Given the description of an element on the screen output the (x, y) to click on. 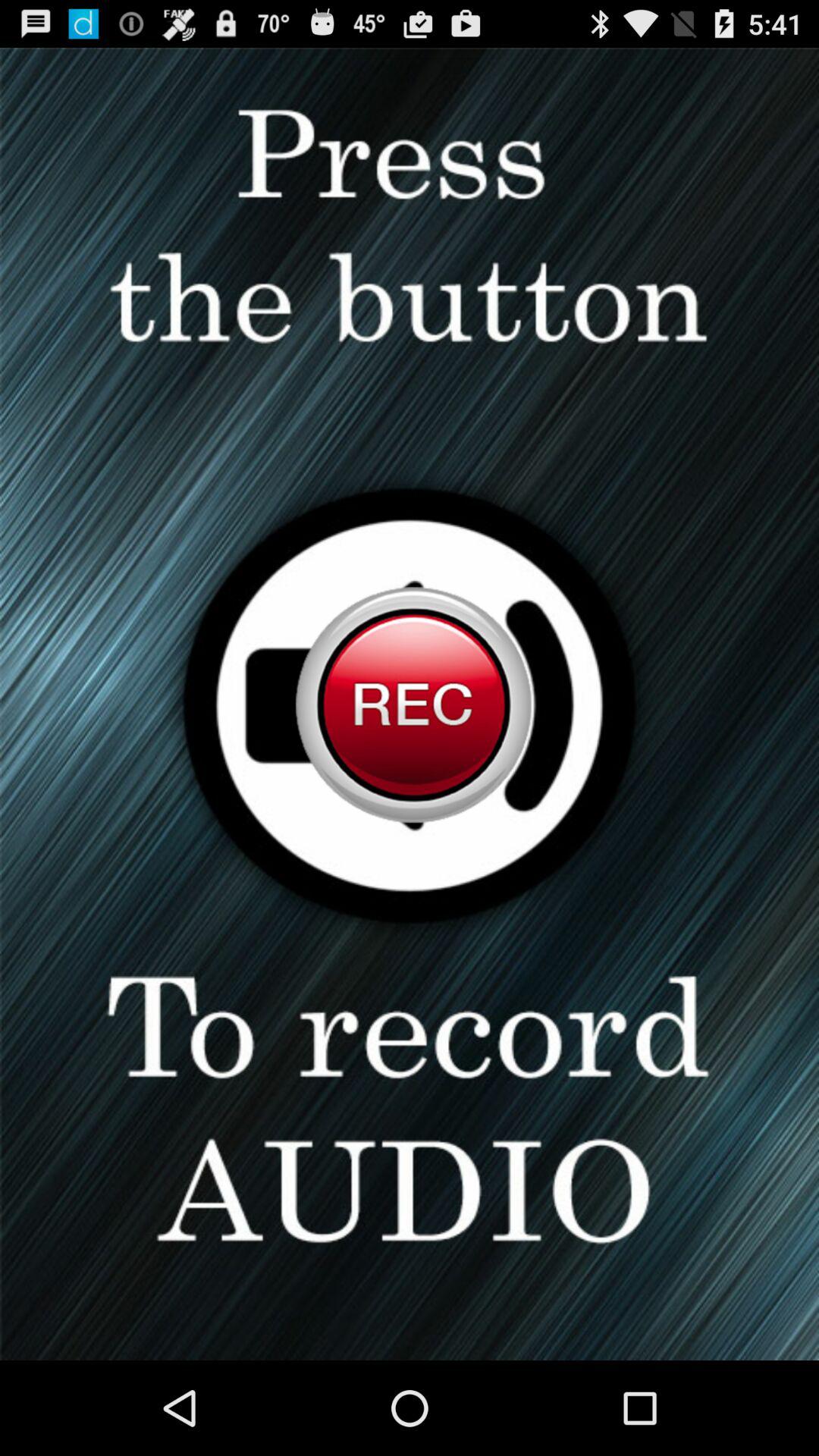
miuse (409, 703)
